Given the description of an element on the screen output the (x, y) to click on. 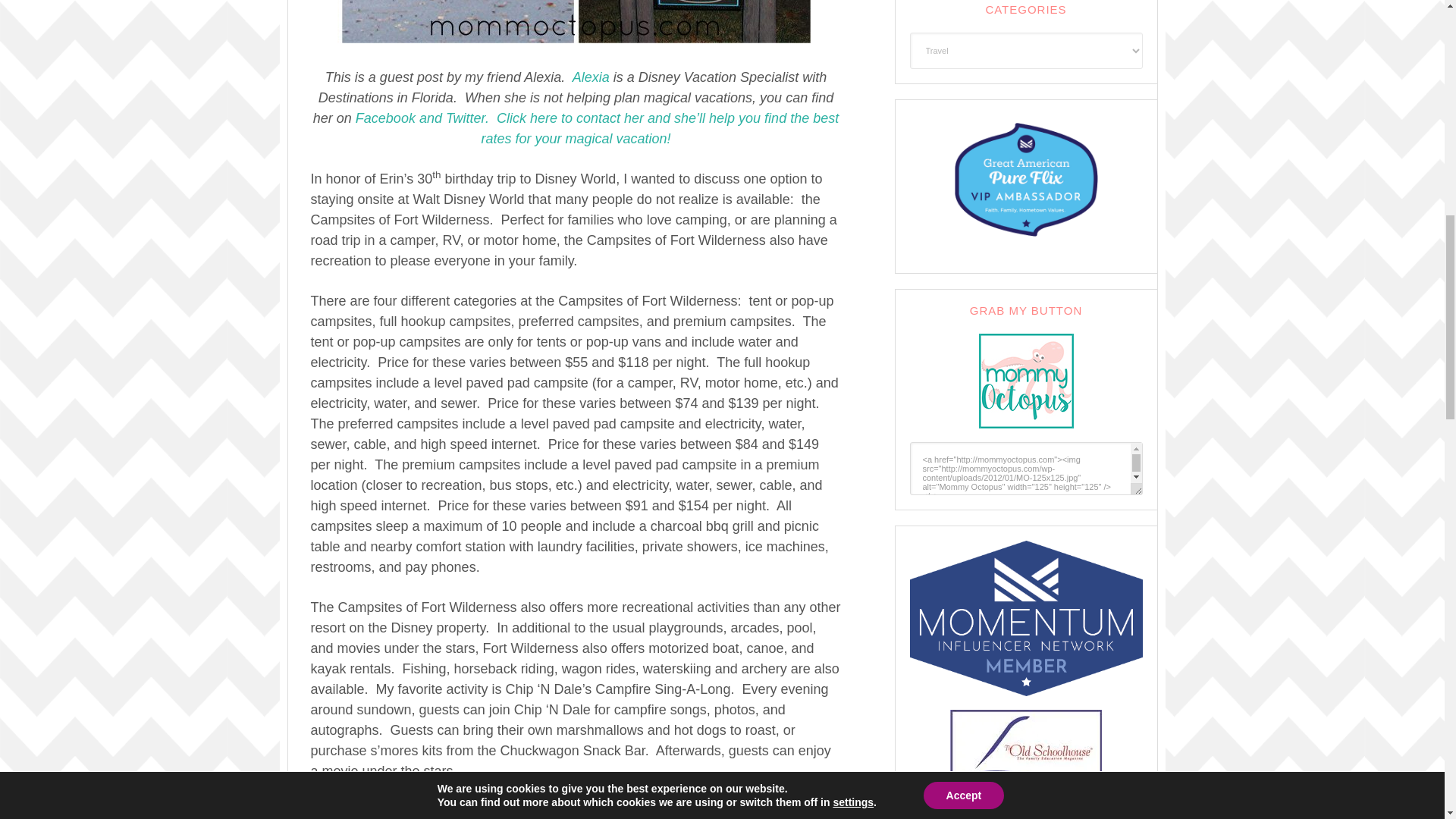
Alexia (591, 77)
